Given the description of an element on the screen output the (x, y) to click on. 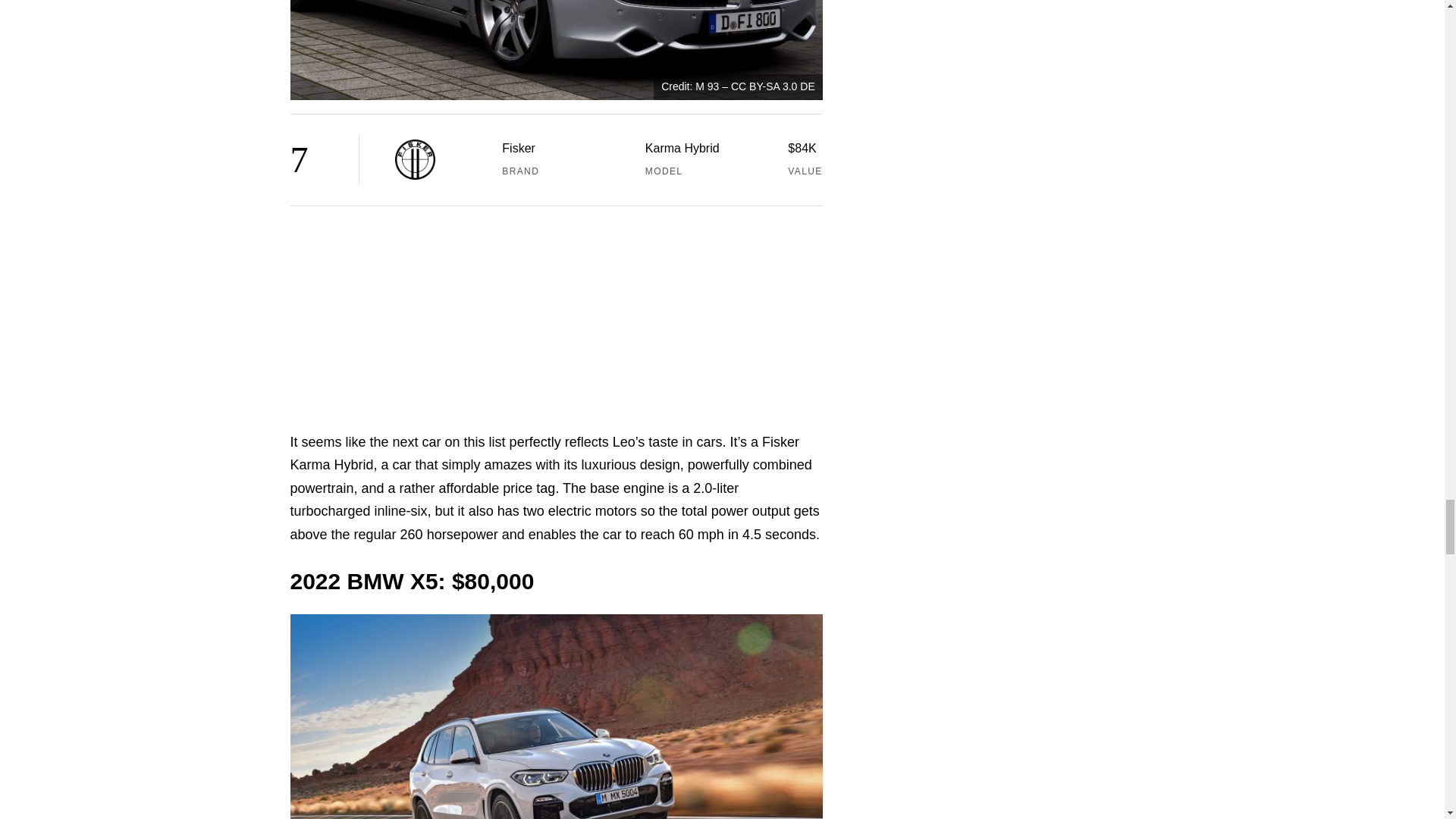
CC BY-SA 3.0 DE (772, 86)
